Given the description of an element on the screen output the (x, y) to click on. 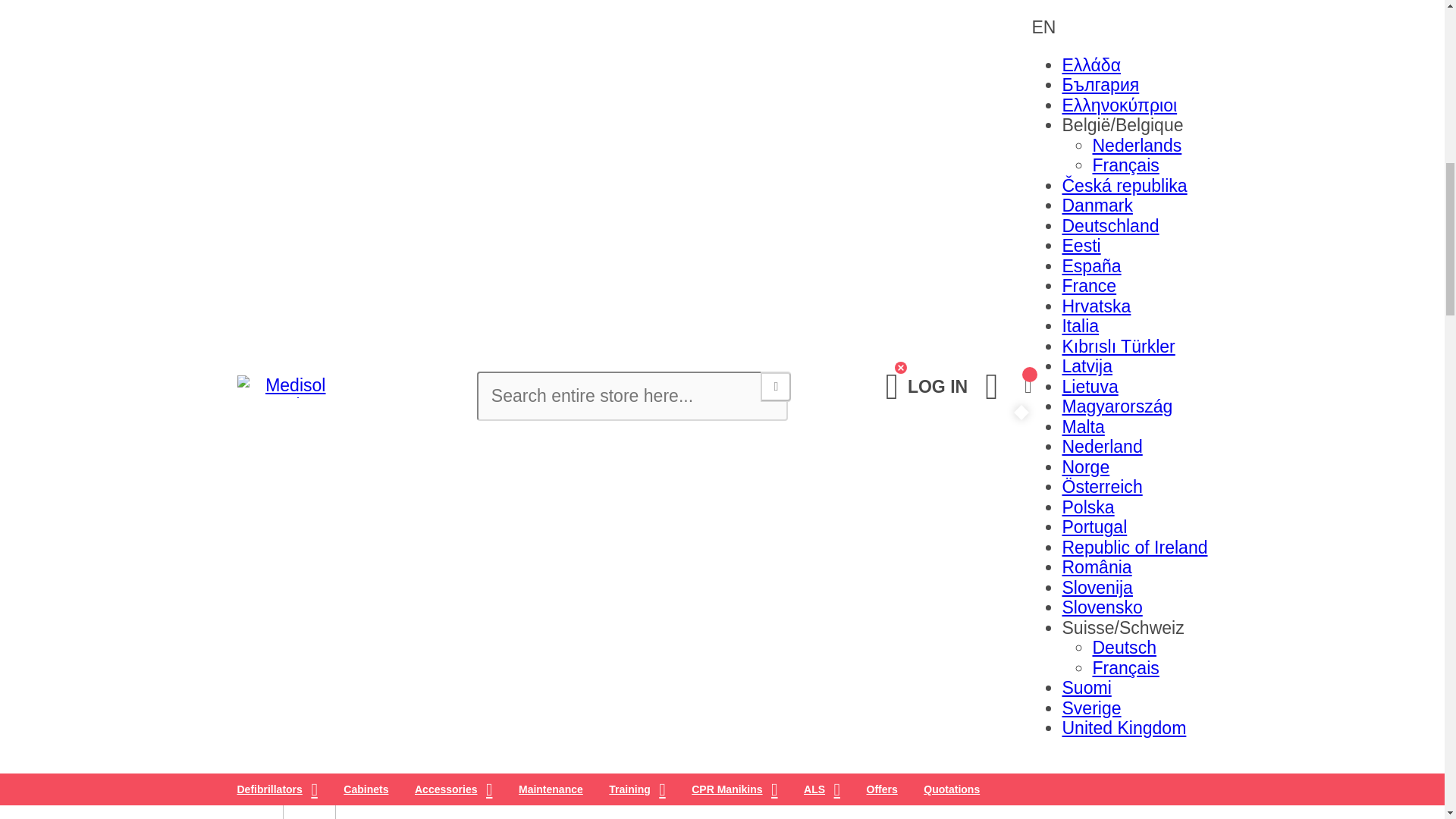
Go to Home Page (305, 94)
Defibrillator Accessories (375, 113)
Additional Accessories (369, 134)
Others (308, 153)
